Given the description of an element on the screen output the (x, y) to click on. 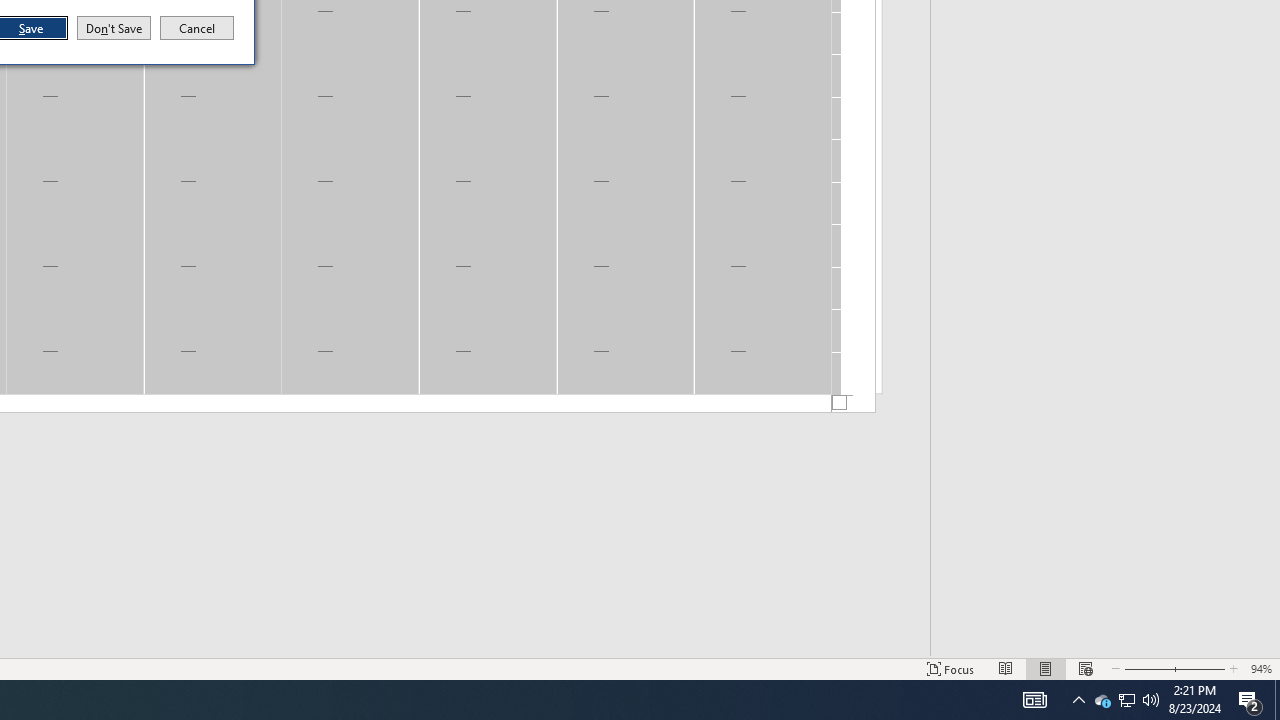
Don't Save (113, 27)
Cancel (197, 27)
